Given the description of an element on the screen output the (x, y) to click on. 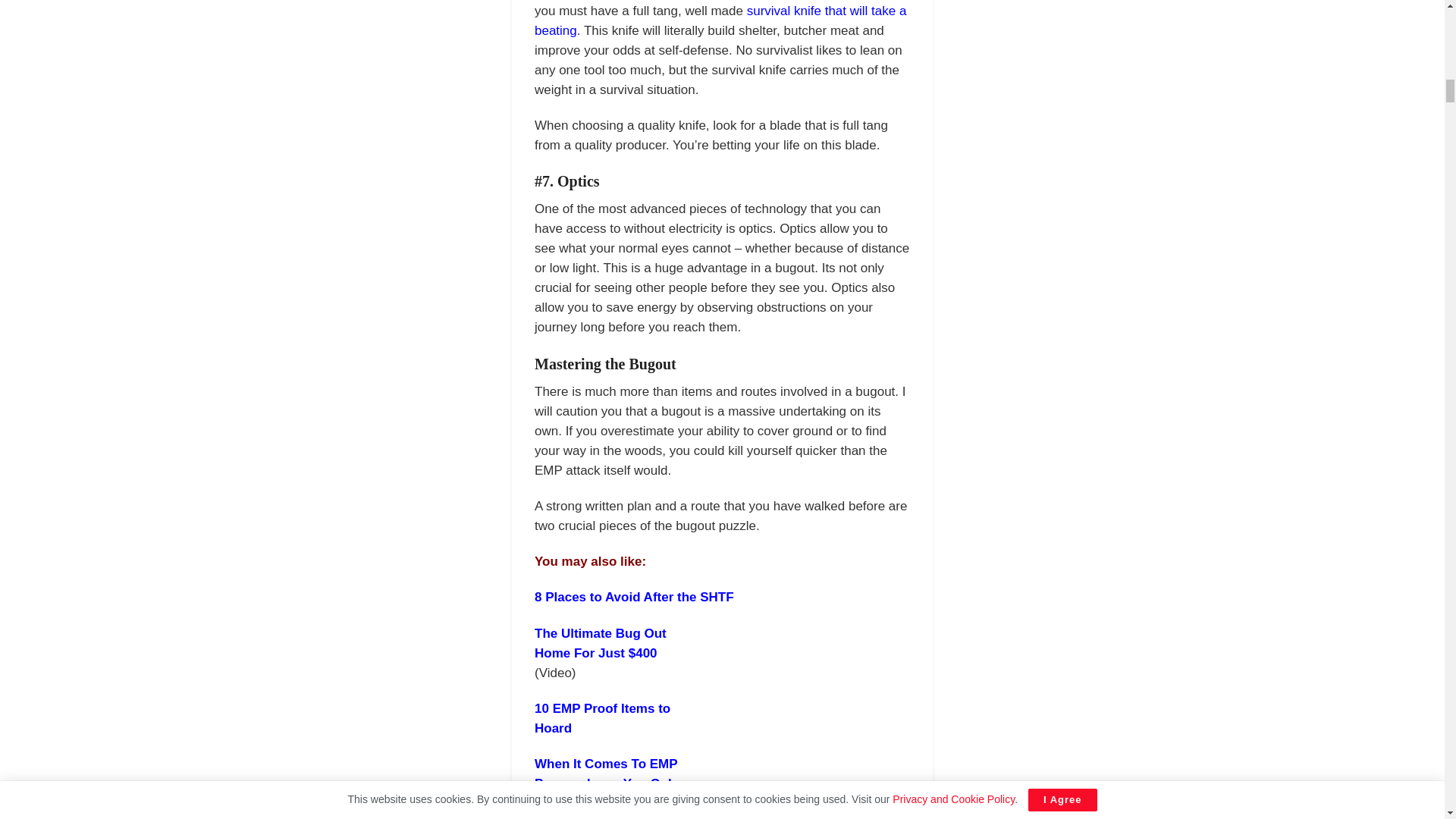
8 Places to Avoid After the SHTF (633, 596)
survival knife that will take a beating (719, 20)
